Given the description of an element on the screen output the (x, y) to click on. 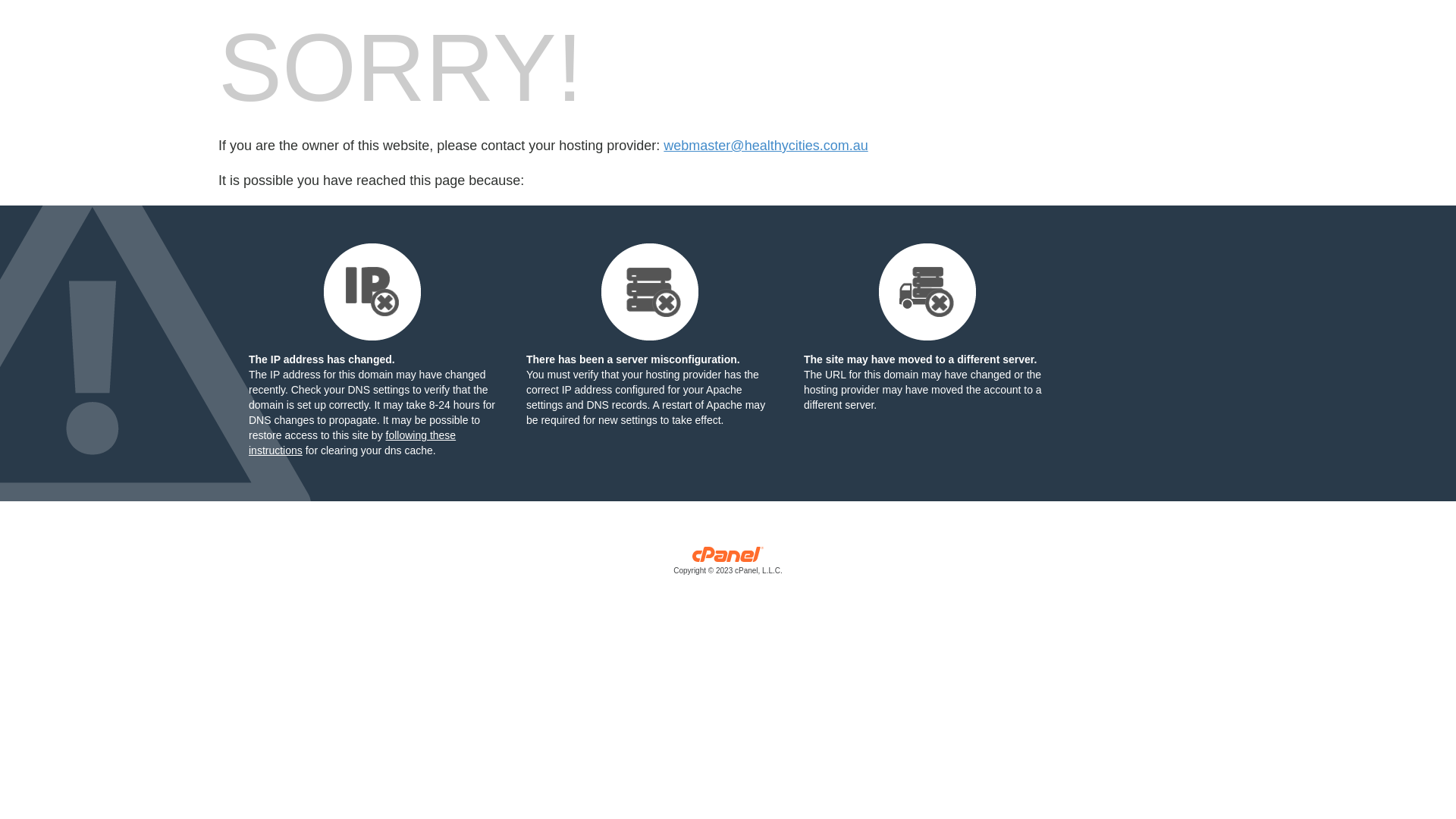
following these instructions Element type: text (351, 442)
webmaster@healthycities.com.au Element type: text (765, 145)
